Given the description of an element on the screen output the (x, y) to click on. 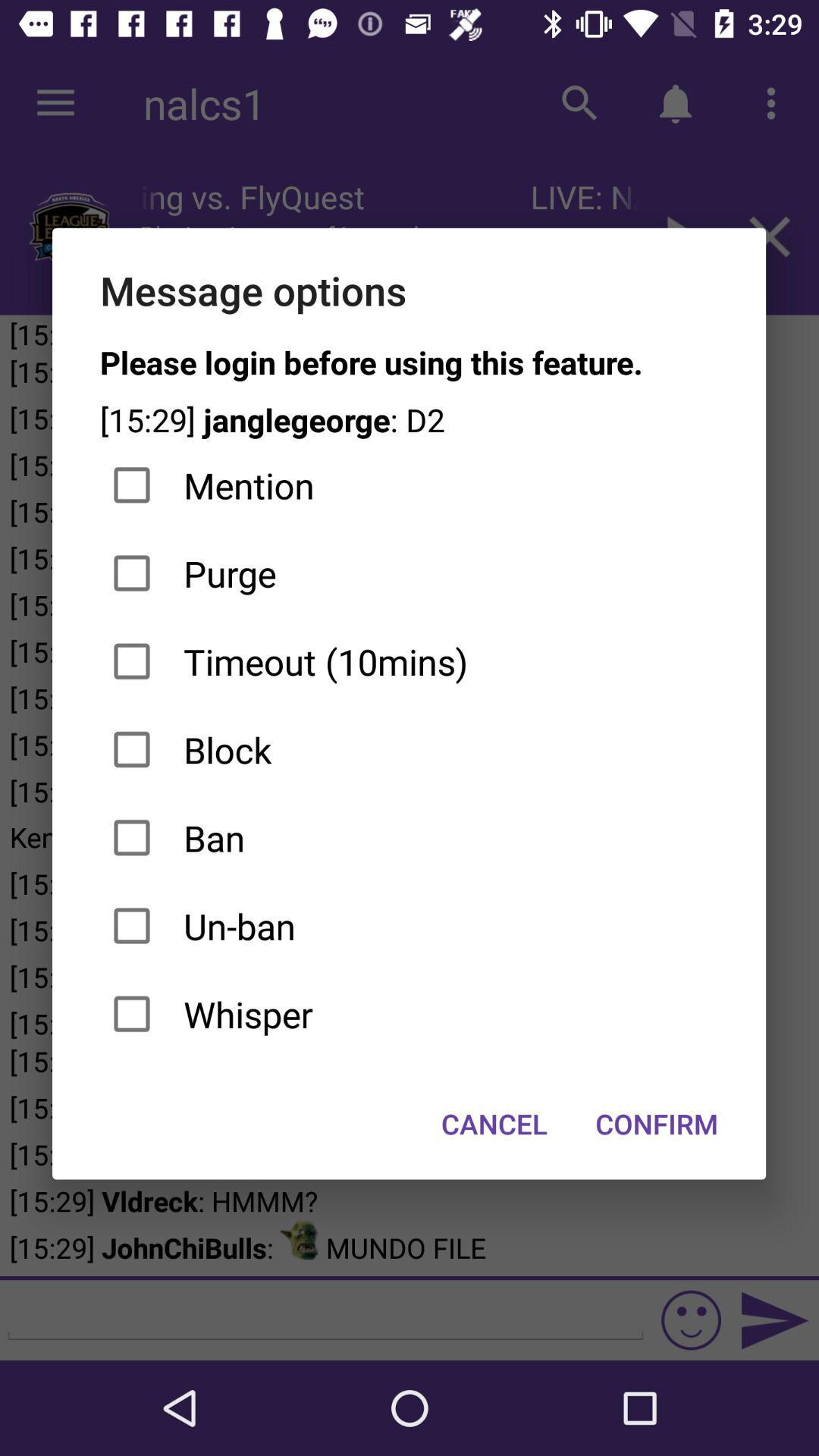
flip until timeout (10mins) (409, 661)
